Given the description of an element on the screen output the (x, y) to click on. 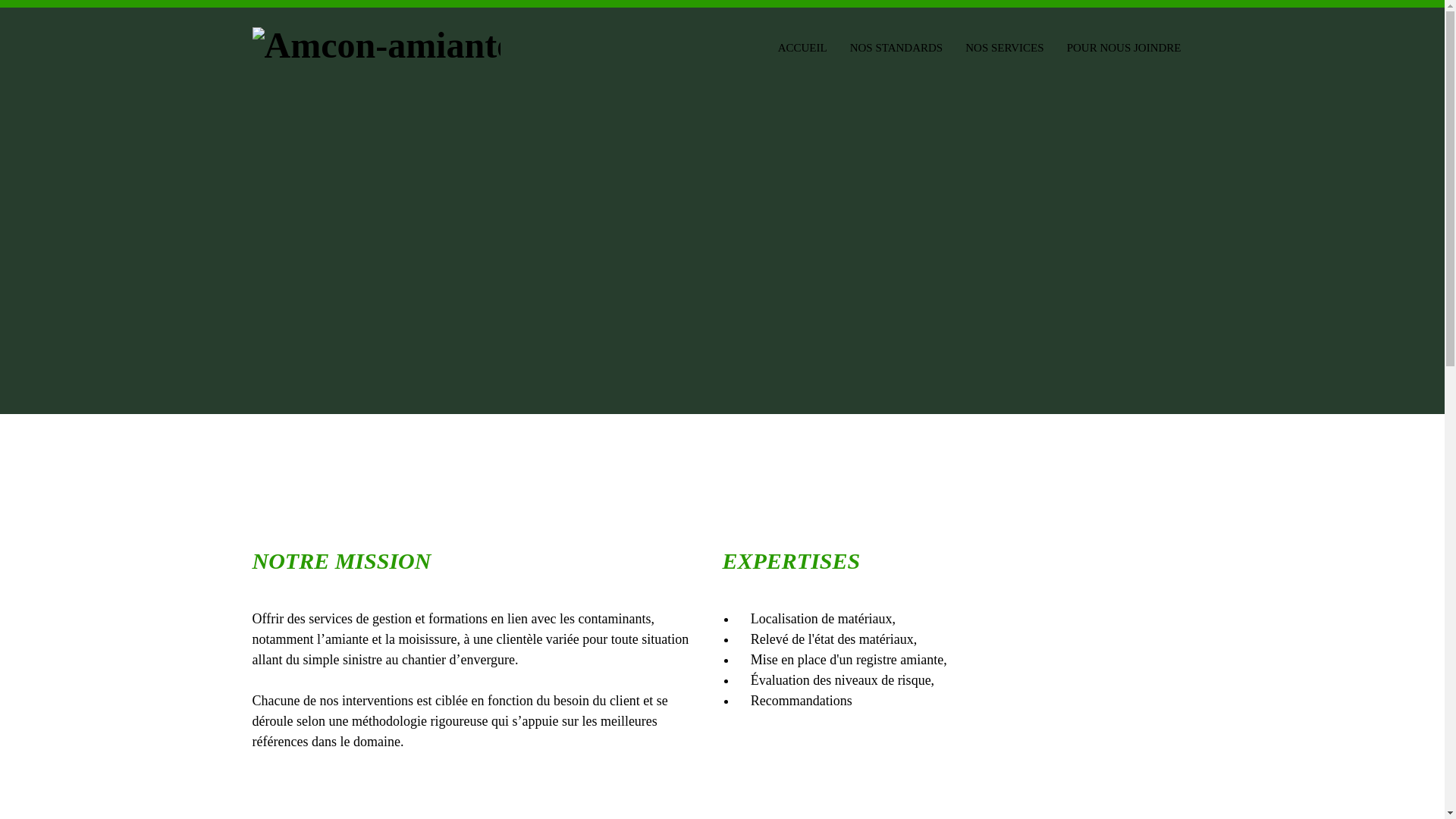
NOS STANDARDS Element type: text (896, 45)
EXPERTISES Element type: text (952, 559)
NOS SERVICES Element type: text (1003, 45)
POUR NOUS JOINDRE Element type: text (1123, 45)
NOTRE MISSION Element type: text (482, 559)
ACCUEIL Element type: text (802, 45)
